Given the description of an element on the screen output the (x, y) to click on. 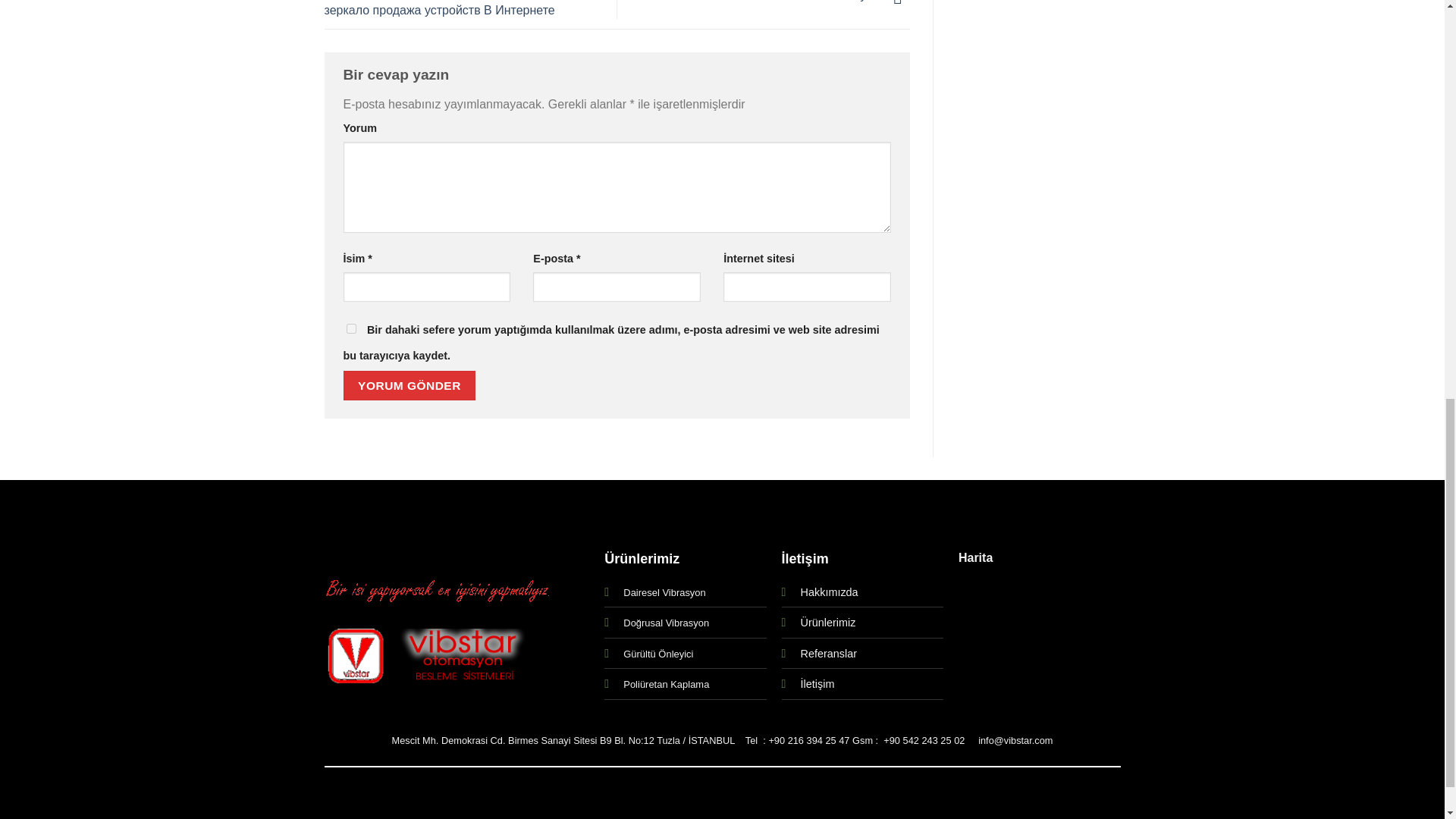
yes (350, 328)
